Given the description of an element on the screen output the (x, y) to click on. 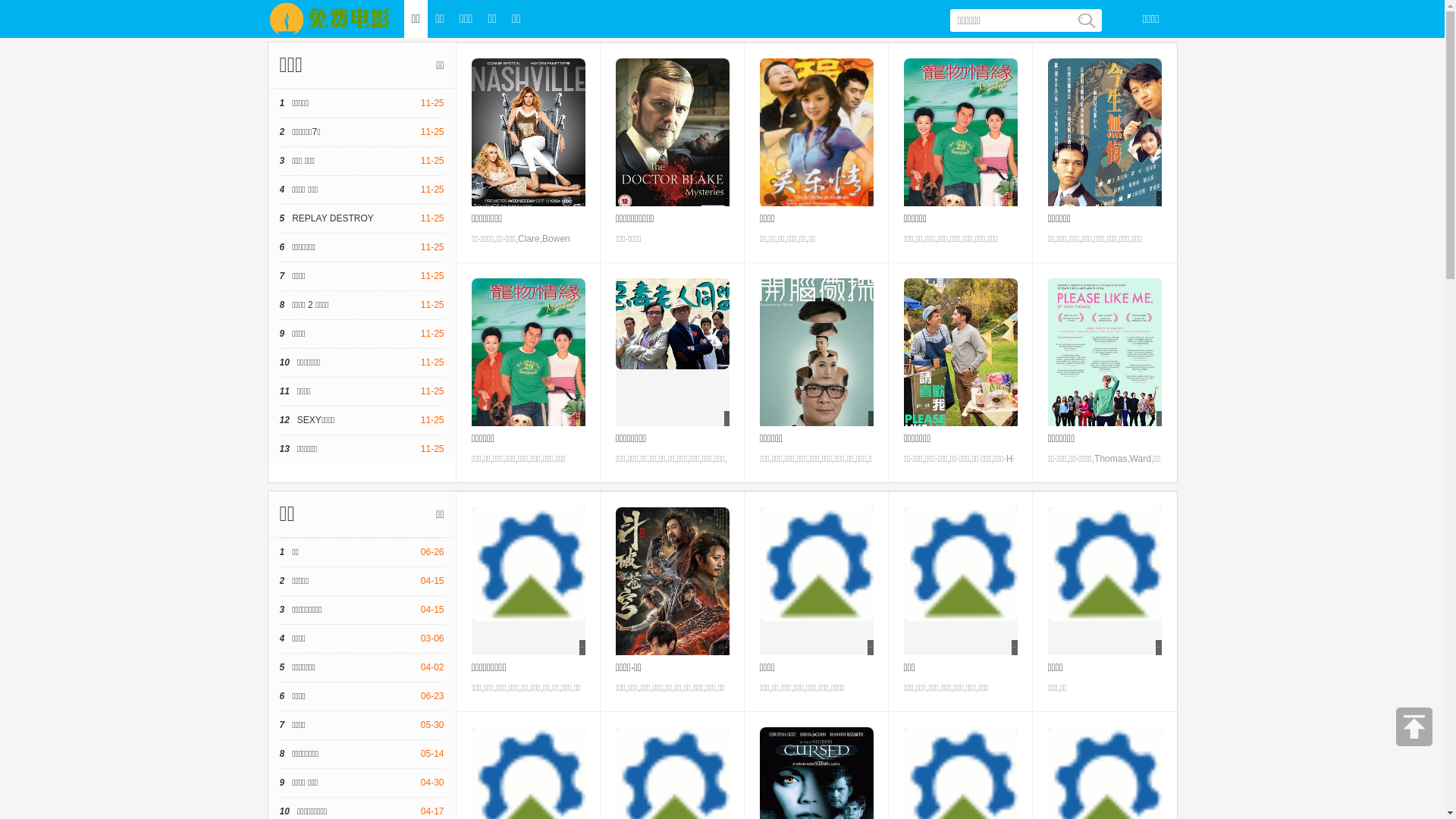
11-25
5REPLAY DESTROY Element type: text (361, 217)
